Given the description of an element on the screen output the (x, y) to click on. 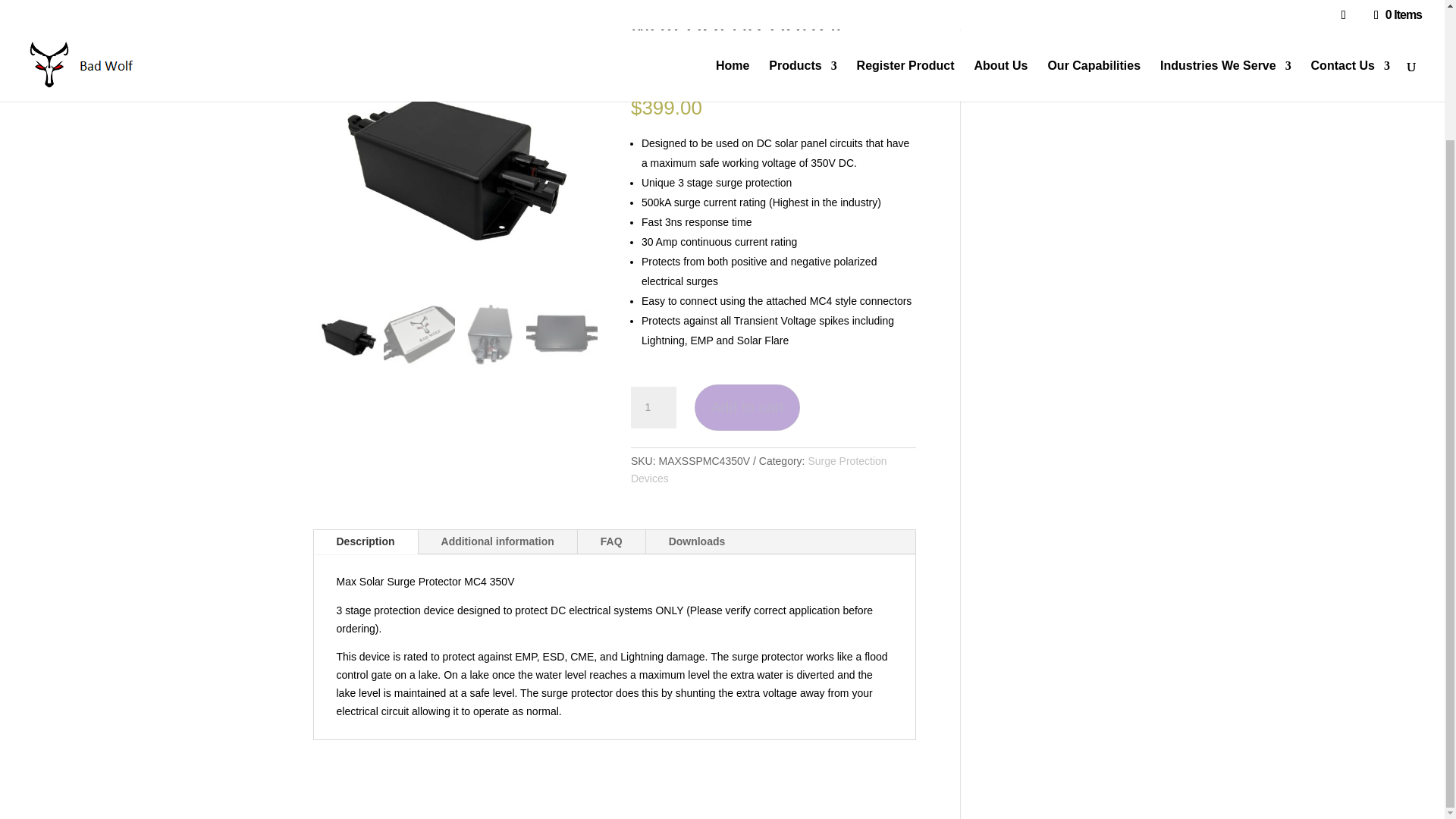
MAX SOLAR SURGE PROTECTOR MC4 15V MAXSSPMC415V (454, 156)
MAX SOLAR SURGE PROTECTOR MC4 15V MAXSSPMC415V (739, 128)
1 (653, 406)
